Given the description of an element on the screen output the (x, y) to click on. 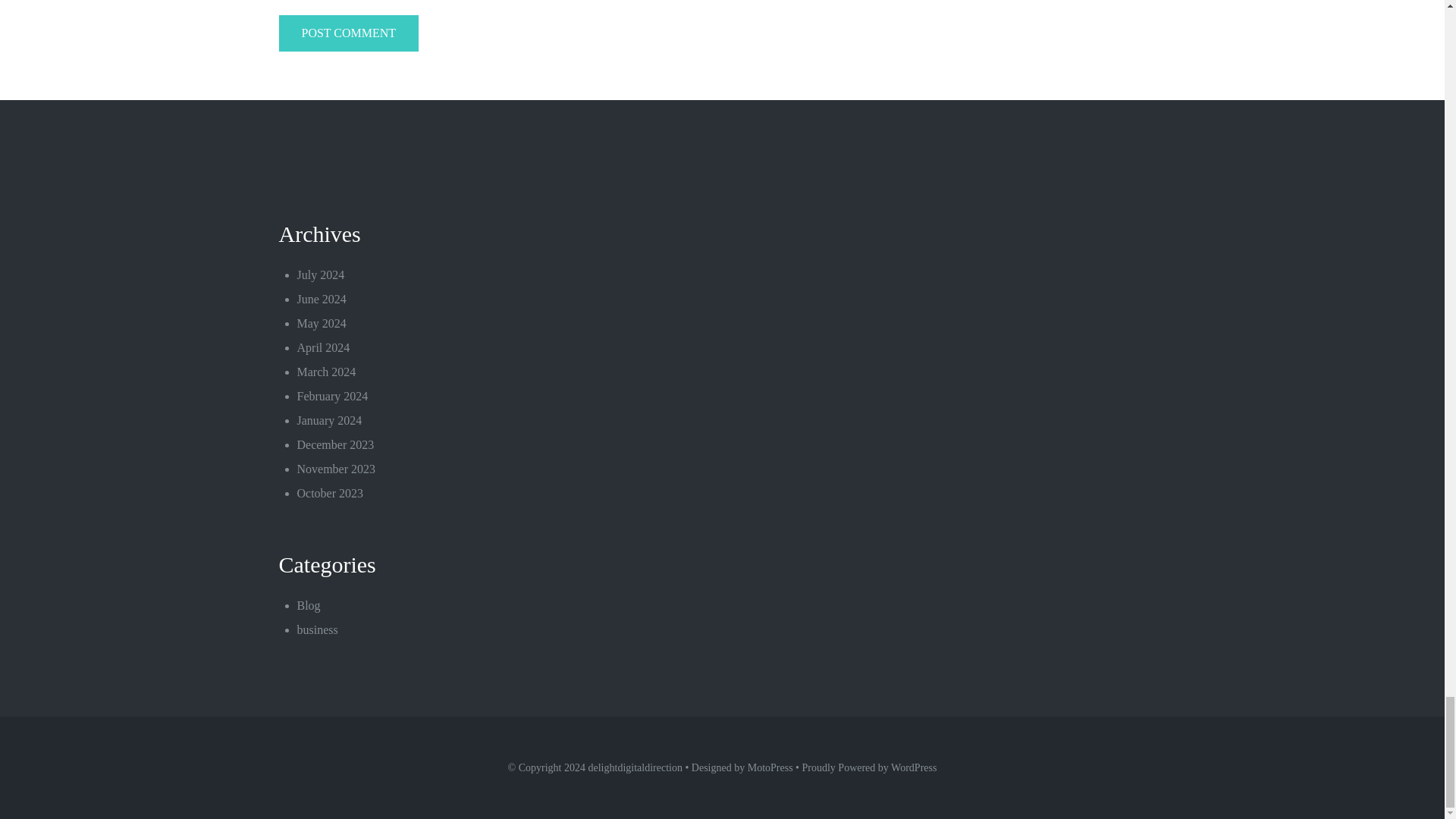
delightdigitaldirection (635, 767)
Semantic Personal Publishing Platform (913, 767)
Premium WordPress Plugins and Themes (770, 767)
Post Comment (349, 33)
Post Comment (349, 33)
